Given the description of an element on the screen output the (x, y) to click on. 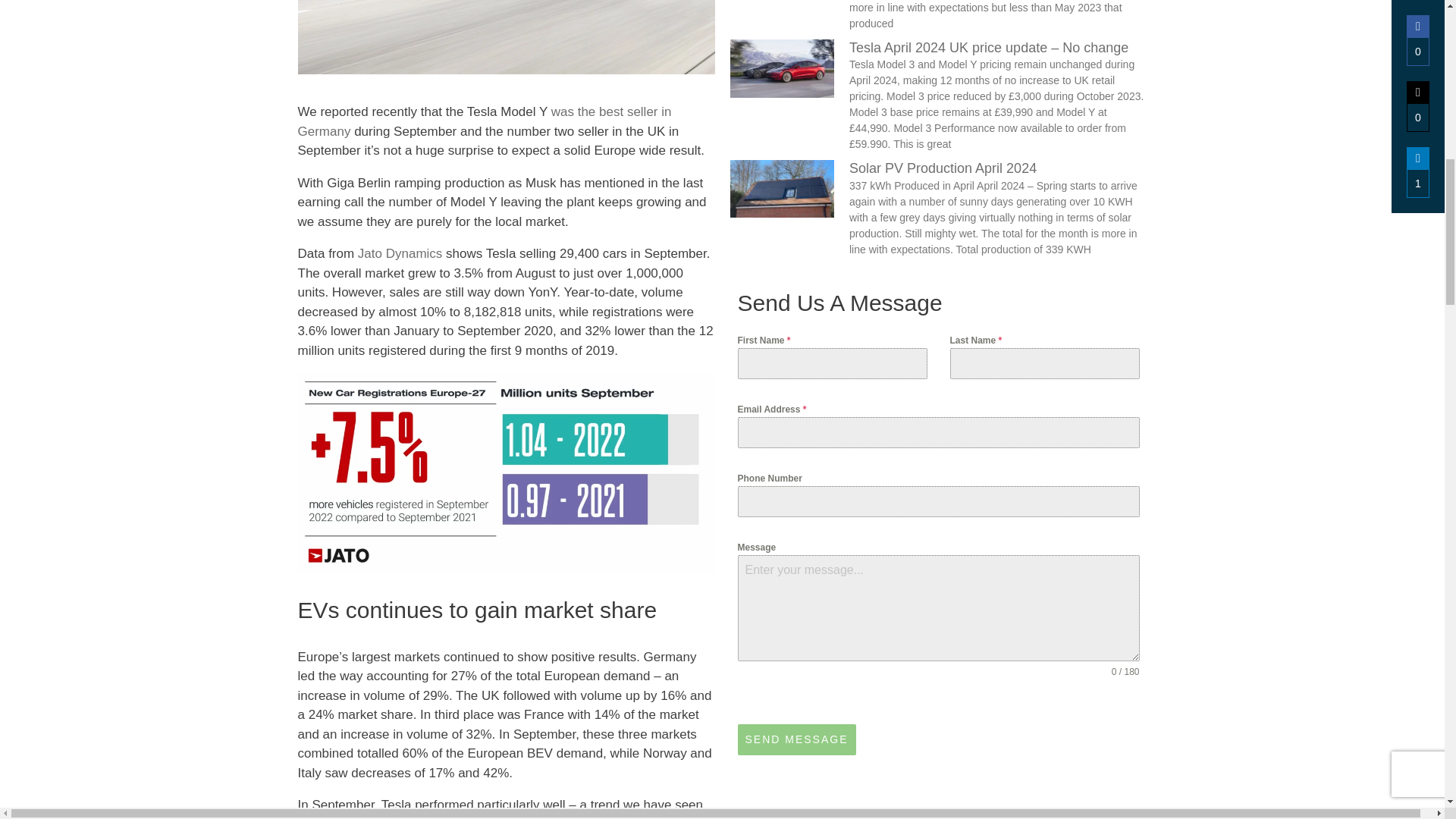
Solar PV Production April 2024 (942, 168)
SEND MESSAGE (796, 738)
was the best seller in Germany (484, 121)
Jato Dynamics (400, 253)
